Given the description of an element on the screen output the (x, y) to click on. 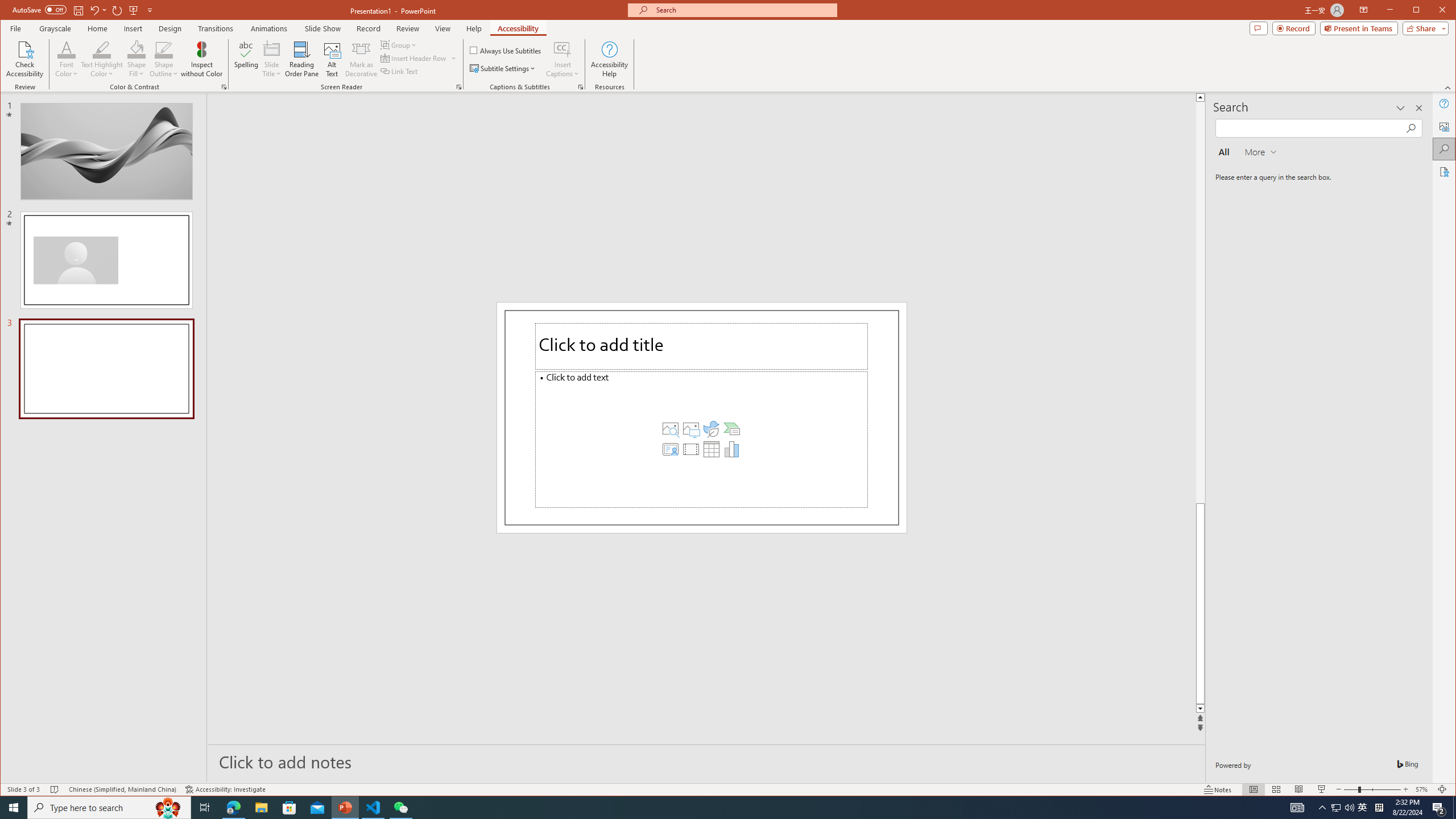
Page up (1335, 807)
Color & Contrast (1245, 302)
Microsoft Store (223, 86)
Visual Studio Code - 1 running window (289, 807)
Font Color (373, 807)
Shape Fill Orange, Accent 2 (66, 59)
Spelling... (136, 48)
